Given the description of an element on the screen output the (x, y) to click on. 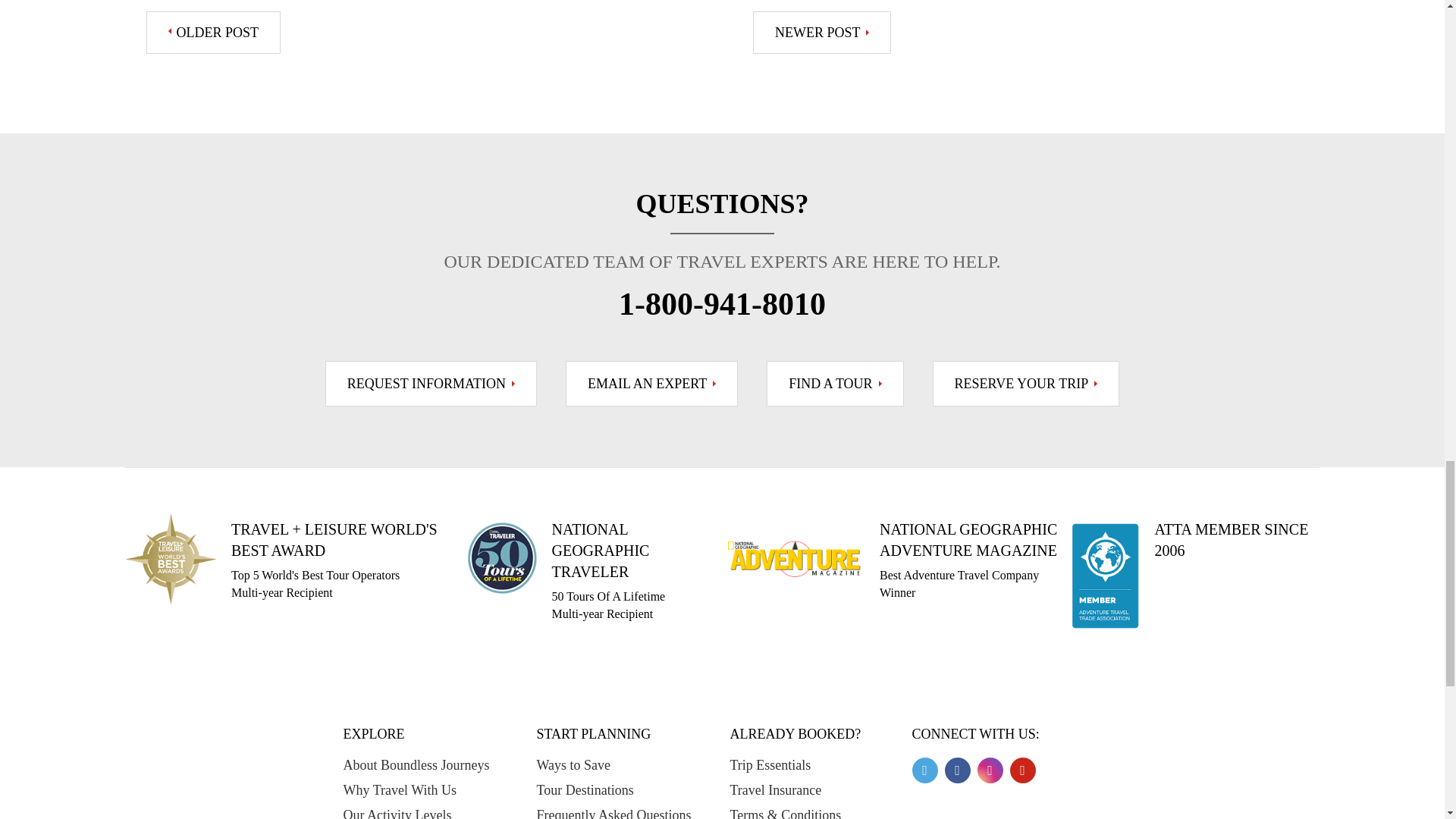
Reserve Your Trip (1026, 383)
Find a Tour (834, 383)
Email an Expert (652, 383)
Request Information (430, 383)
Call Now (721, 303)
